Given the description of an element on the screen output the (x, y) to click on. 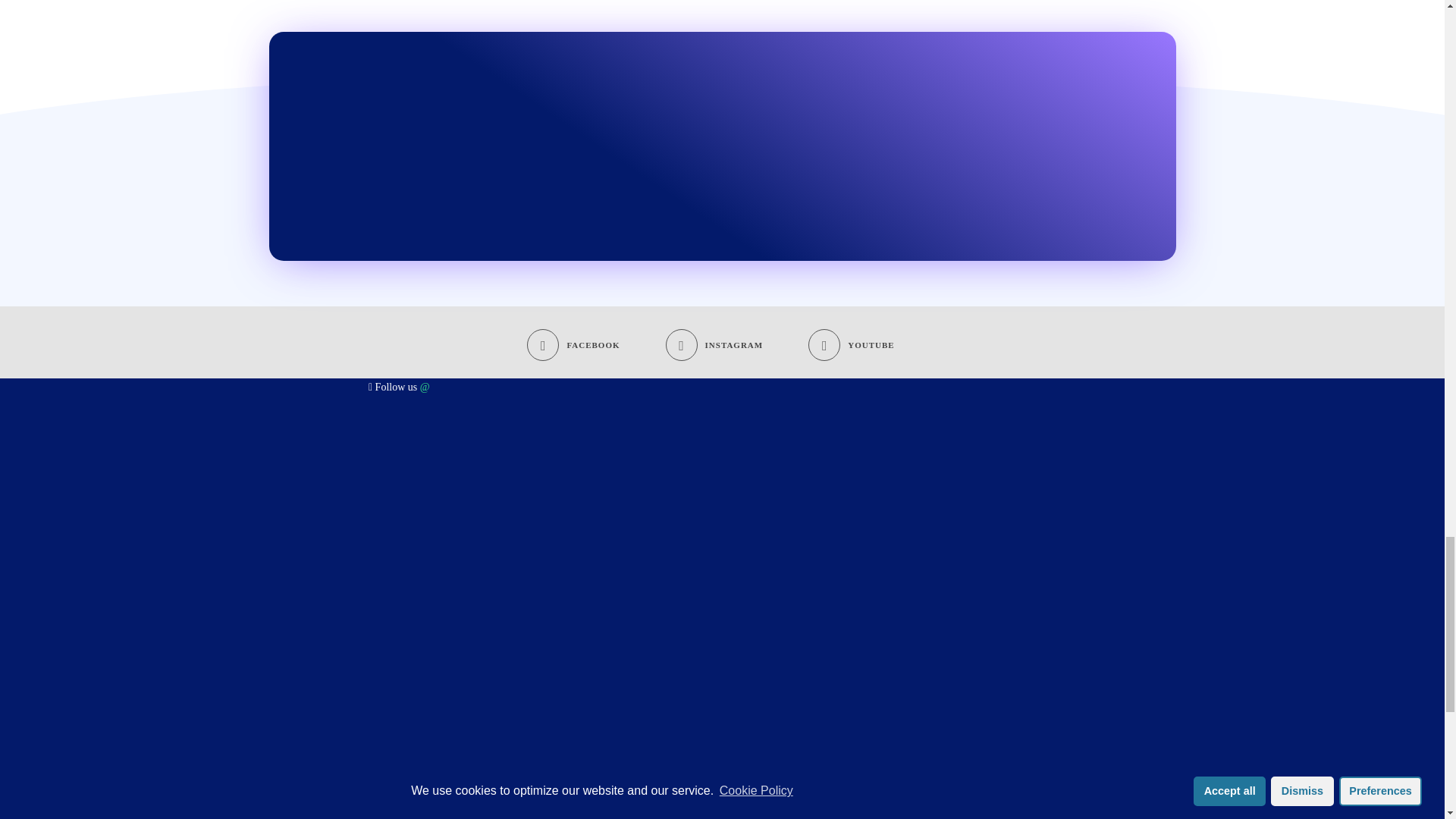
fb:page Facebook Social Plugin (378, 442)
